Given the description of an element on the screen output the (x, y) to click on. 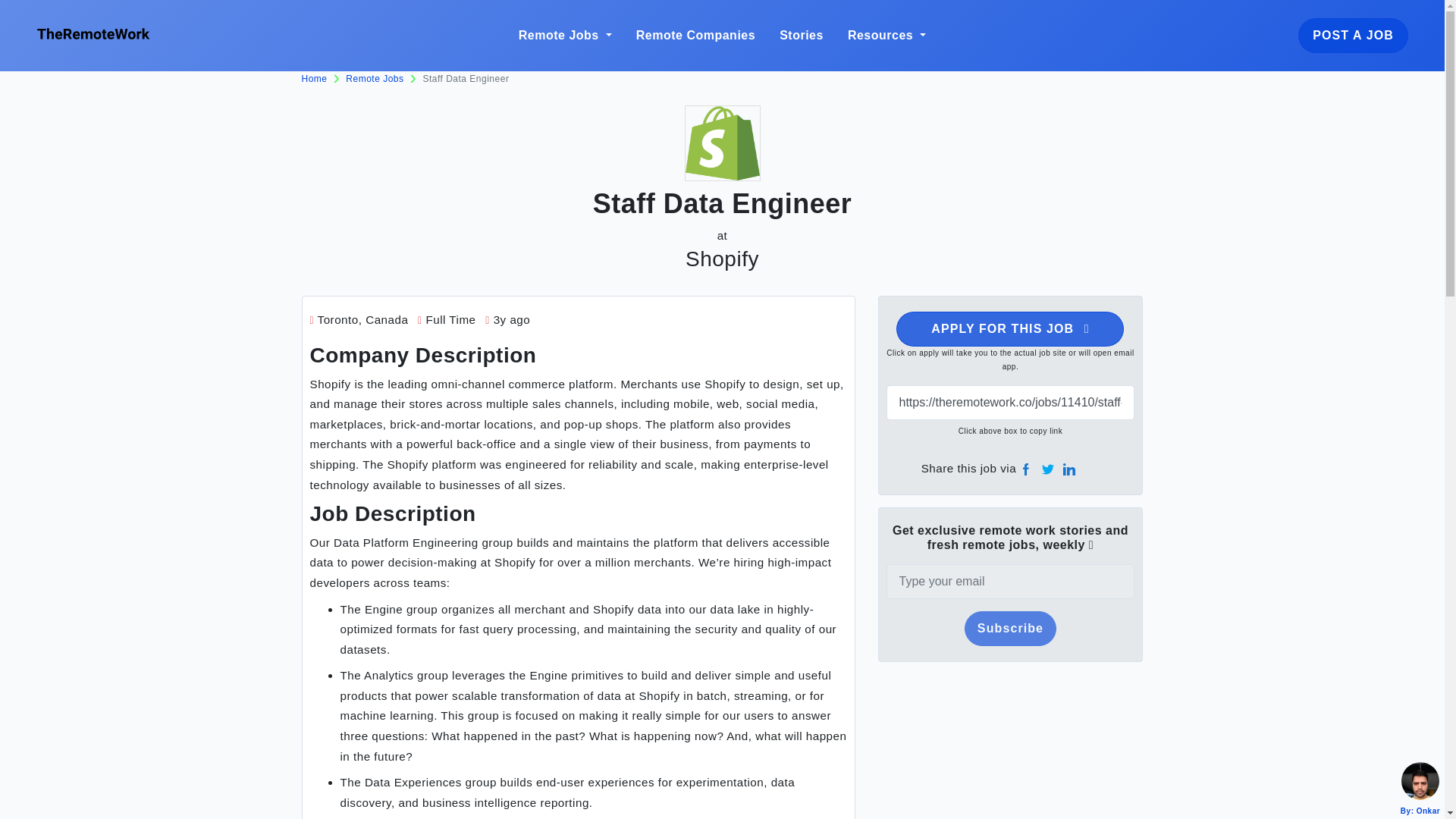
Remote Jobs (564, 35)
Subscribe (1010, 628)
Remote Jobs (374, 78)
APPLY FOR THIS JOB (1010, 329)
Remote Companies (695, 35)
Maker: Onkar (1419, 781)
Click to apply for the remote job (1010, 329)
POST A JOB (1352, 35)
Stories (801, 35)
Resources (886, 35)
Home (314, 78)
